Given the description of an element on the screen output the (x, y) to click on. 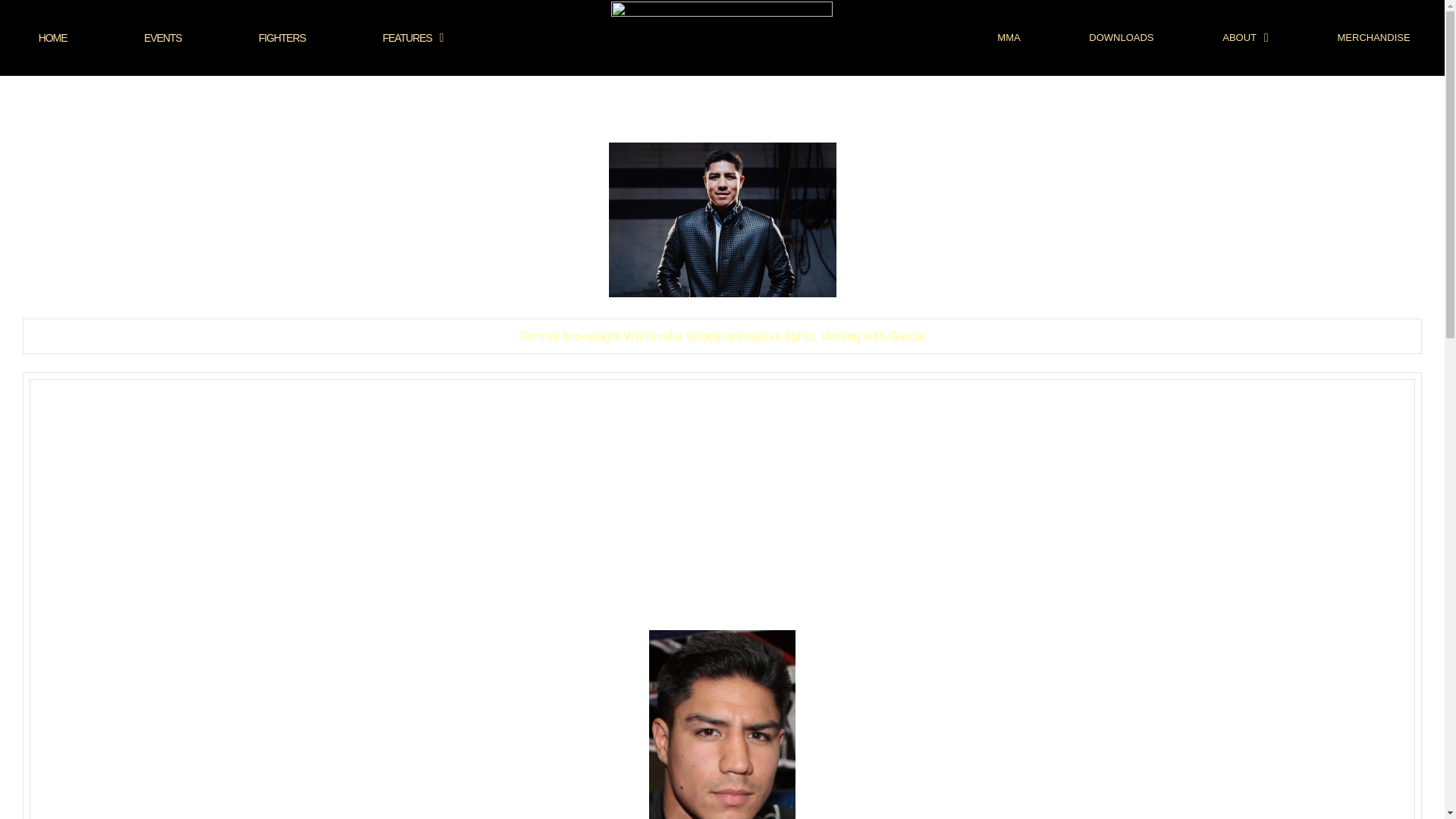
DOWNLOADS (1121, 38)
MMA (1008, 38)
FIGHTERS (281, 38)
FEATURES (412, 38)
EVENTS (161, 38)
HOME (52, 38)
ABOUT (1245, 38)
